Given the description of an element on the screen output the (x, y) to click on. 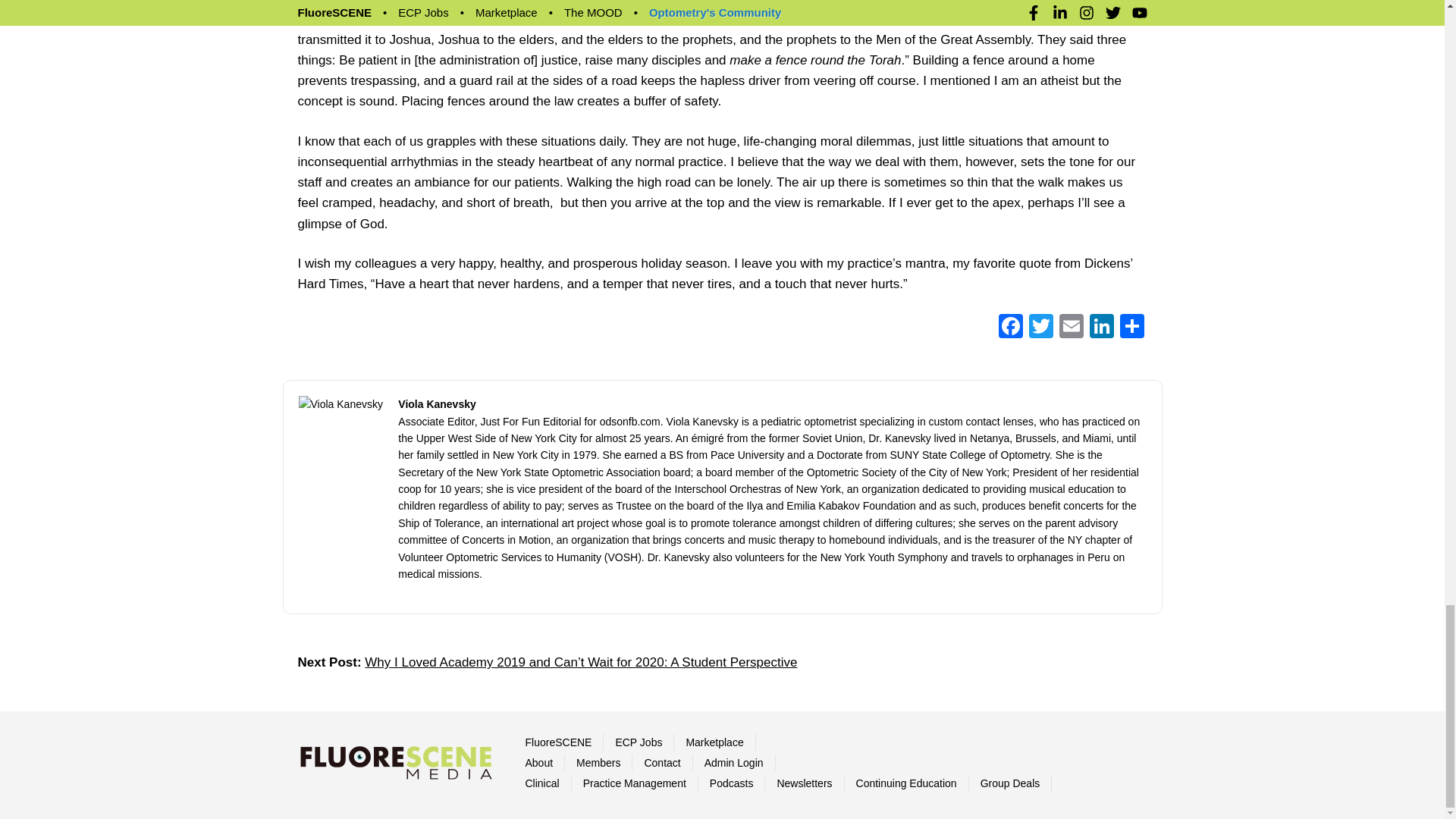
Facebook (1009, 327)
About (538, 762)
Admin Login (733, 762)
Facebook (1009, 327)
LinkedIn (1101, 327)
Members (598, 762)
Contact (661, 762)
FluoreSCENE (557, 742)
LinkedIn (1101, 327)
ECP Jobs (638, 742)
Podcasts (732, 783)
Continuing Education (906, 783)
Practice Management (634, 783)
Twitter (1040, 327)
Clinical (541, 783)
